Given the description of an element on the screen output the (x, y) to click on. 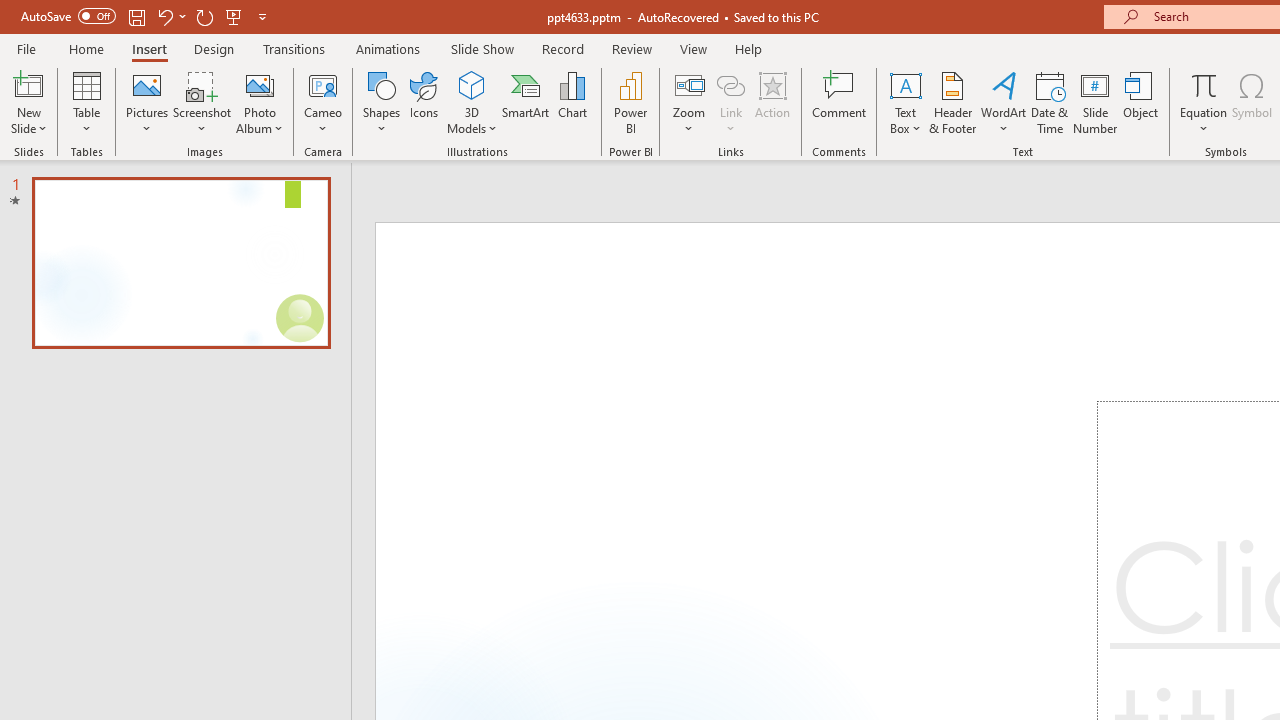
New Photo Album... (259, 84)
Action (772, 102)
SmartArt... (525, 102)
Chart... (572, 102)
Object... (1141, 102)
Symbol... (1252, 102)
Icons (424, 102)
Cameo (323, 102)
